Given the description of an element on the screen output the (x, y) to click on. 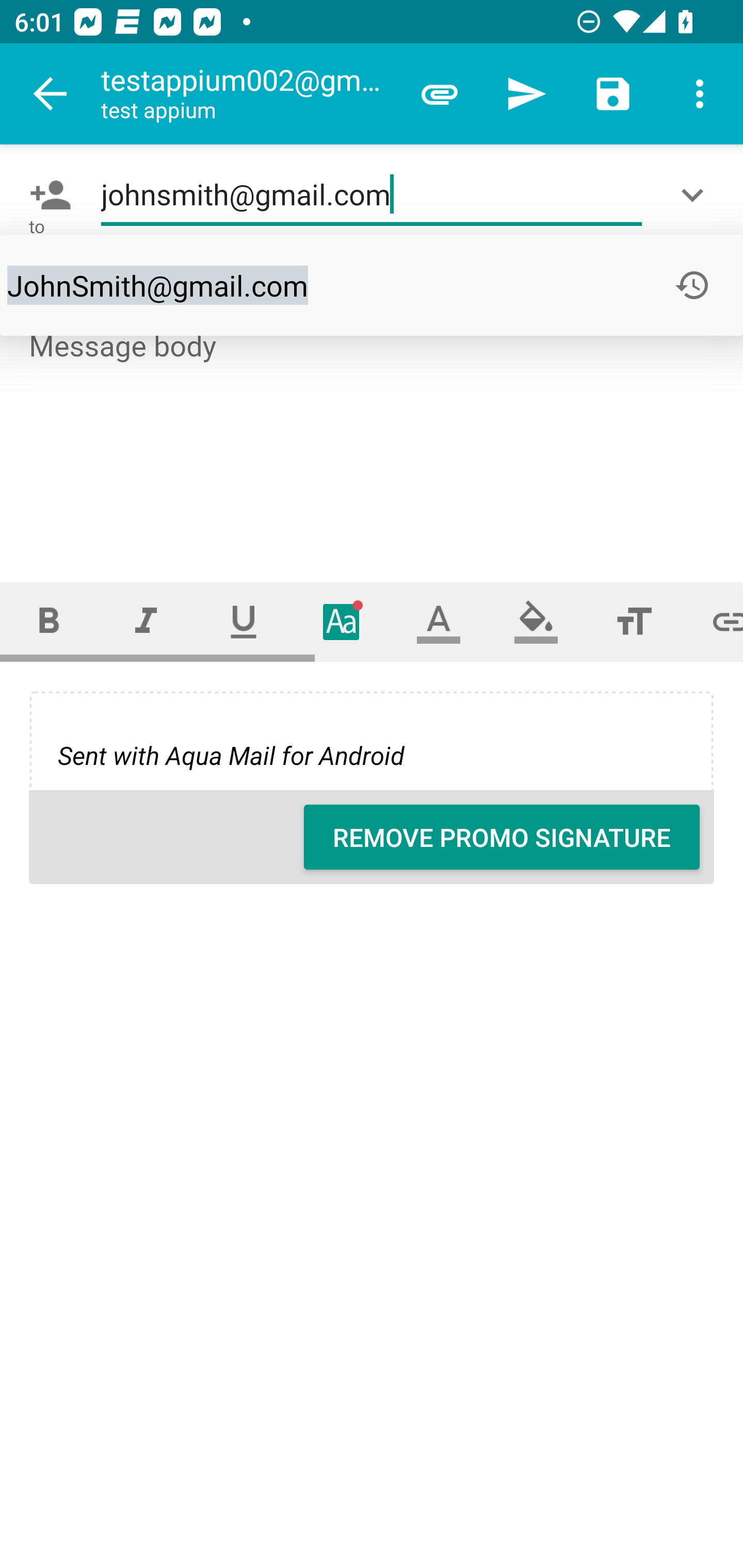
Navigate up (50, 93)
testappium002@gmail.com test appium (248, 93)
Attach (439, 93)
Send (525, 93)
Save (612, 93)
More options (699, 93)
Pick contact: To (46, 195)
Show/Add CC/BCC (696, 195)
johnsmith@gmail.com (371, 195)
Message subject (371, 284)
Message body (372, 438)
Bold (48, 621)
Italic (145, 621)
Underline (243, 621)
Typeface (font) (341, 621)
Text color (438, 621)
Fill color (536, 621)
Font size (633, 621)
REMOVE PROMO SIGNATURE (501, 837)
